Given the description of an element on the screen output the (x, y) to click on. 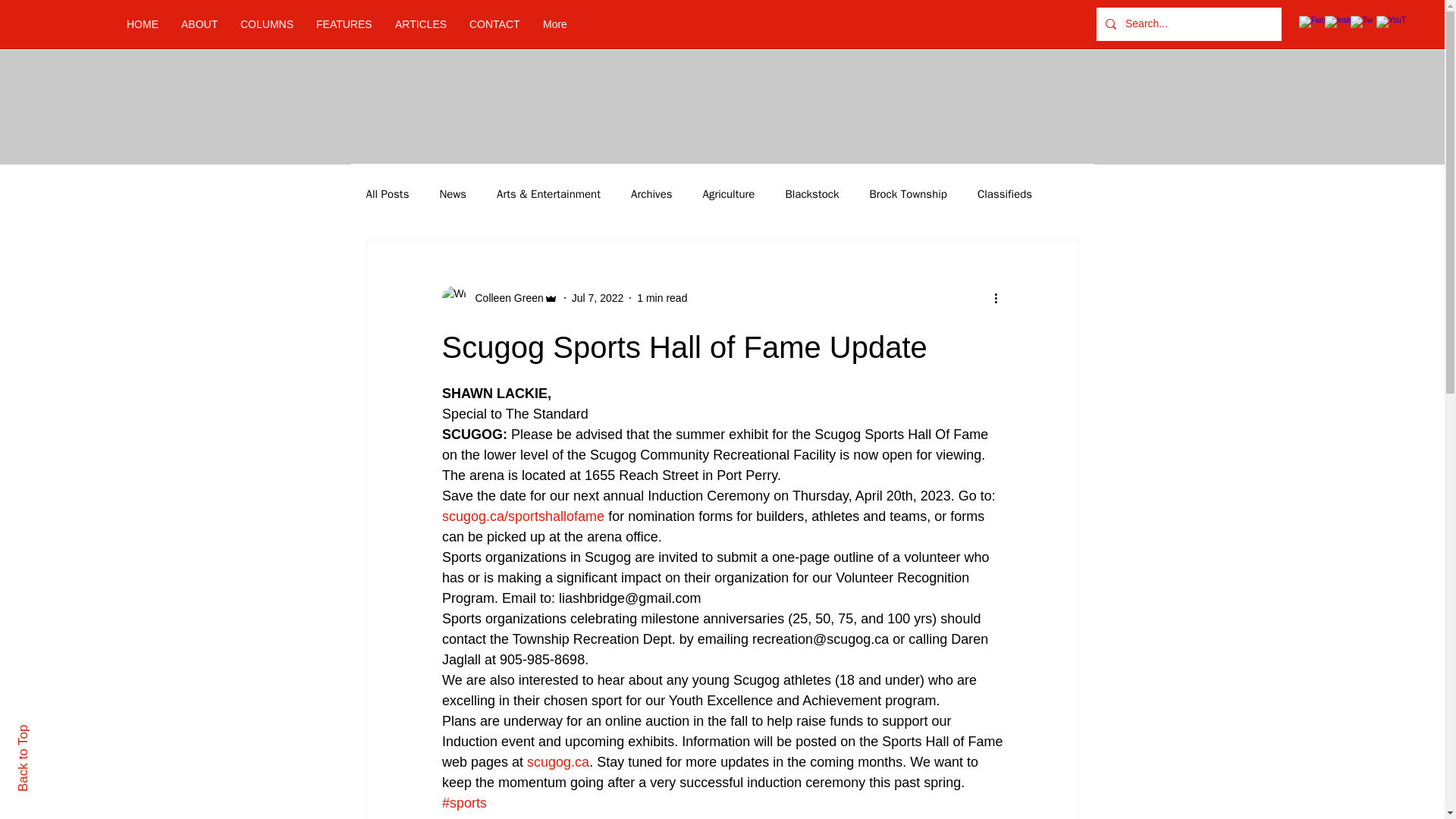
Agriculture (729, 193)
ABOUT (199, 24)
All Posts (387, 193)
1 min read (662, 297)
News (452, 193)
Classifieds (1004, 193)
CONTACT (494, 24)
Colleen Green (504, 297)
Blackstock (811, 193)
Archives (651, 193)
